Given the description of an element on the screen output the (x, y) to click on. 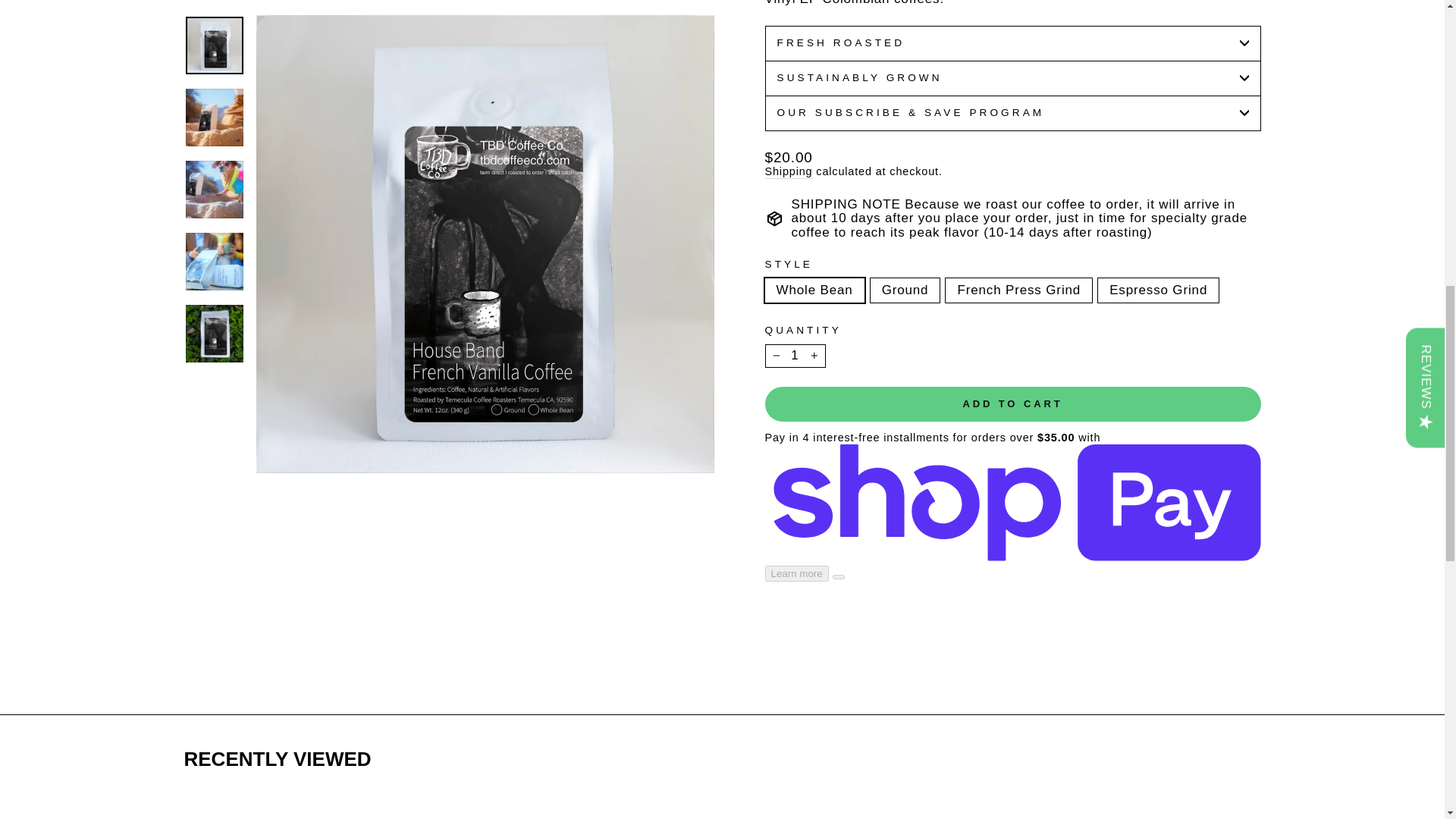
FRESH ROASTED (1012, 42)
1 (794, 355)
